Given the description of an element on the screen output the (x, y) to click on. 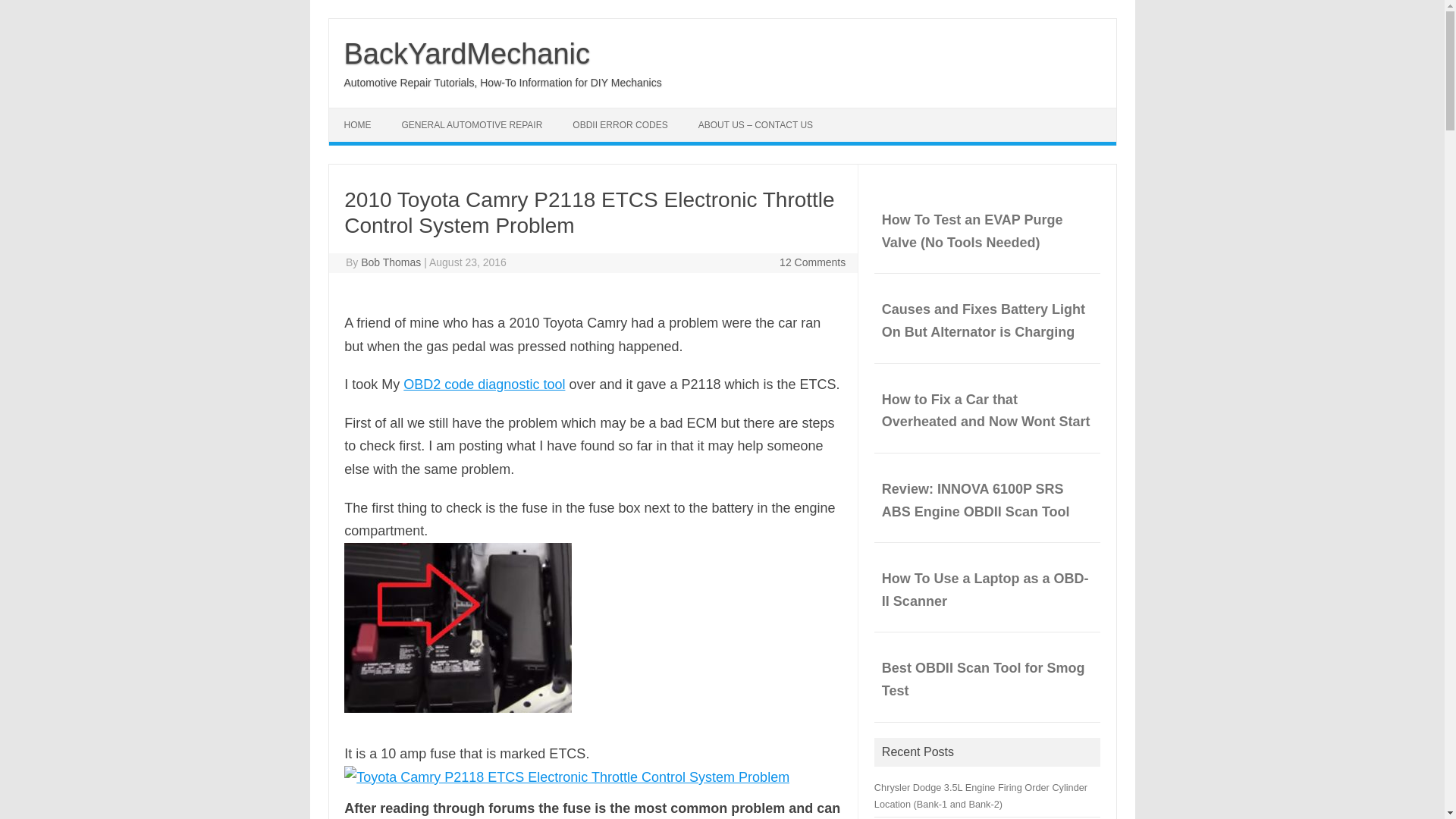
Bob Thomas (390, 262)
BackYardMechanic (467, 53)
Posts by Bob Thomas (390, 262)
GENERAL AUTOMOTIVE REPAIR (472, 124)
OBD2 code diagnostic tool (483, 384)
12 Comments (811, 262)
OBDII ERROR CODES (619, 124)
HOME (358, 124)
